Given the description of an element on the screen output the (x, y) to click on. 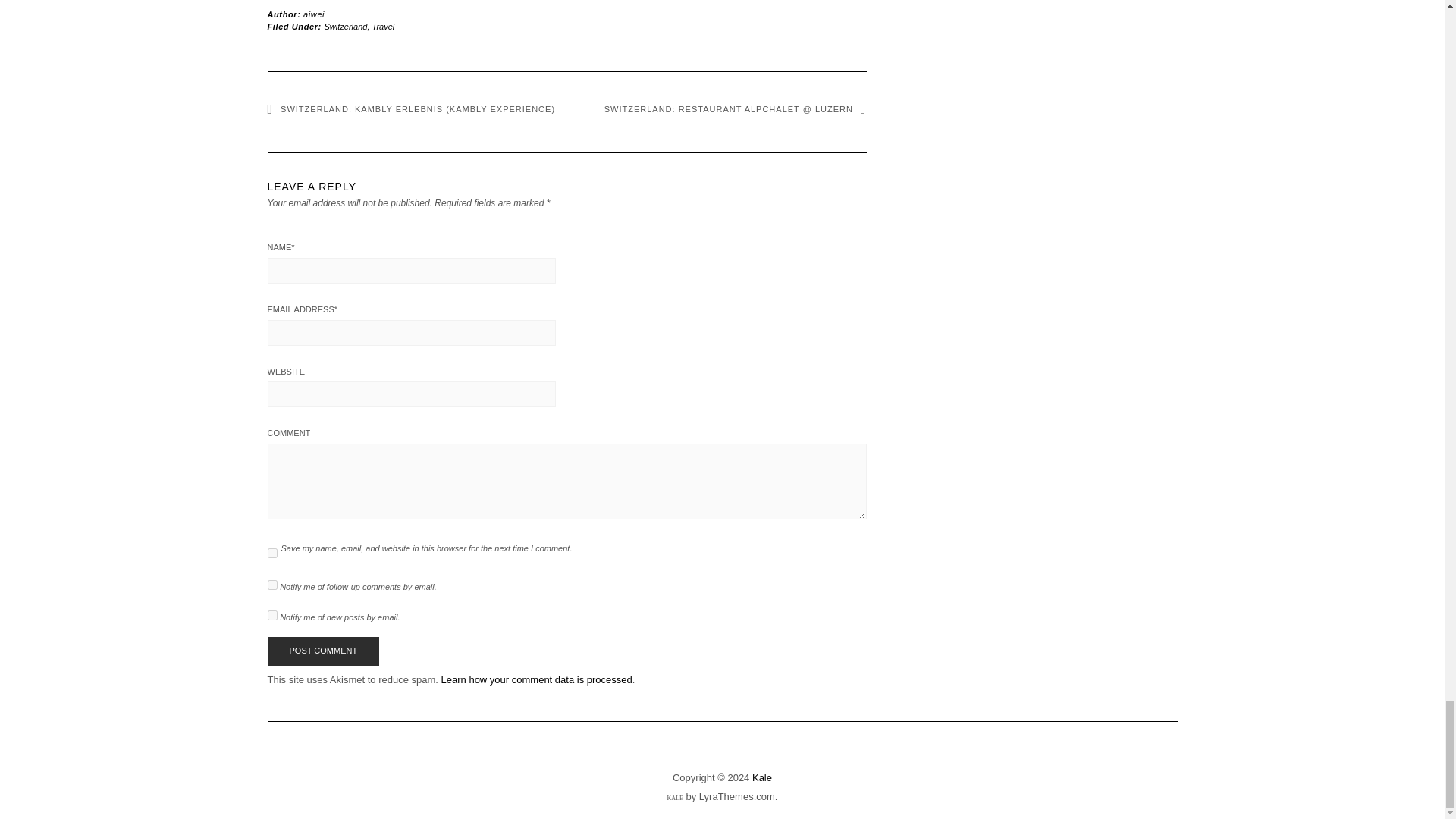
yes (271, 552)
subscribe (271, 614)
Post Comment (322, 651)
subscribe (271, 584)
